Given the description of an element on the screen output the (x, y) to click on. 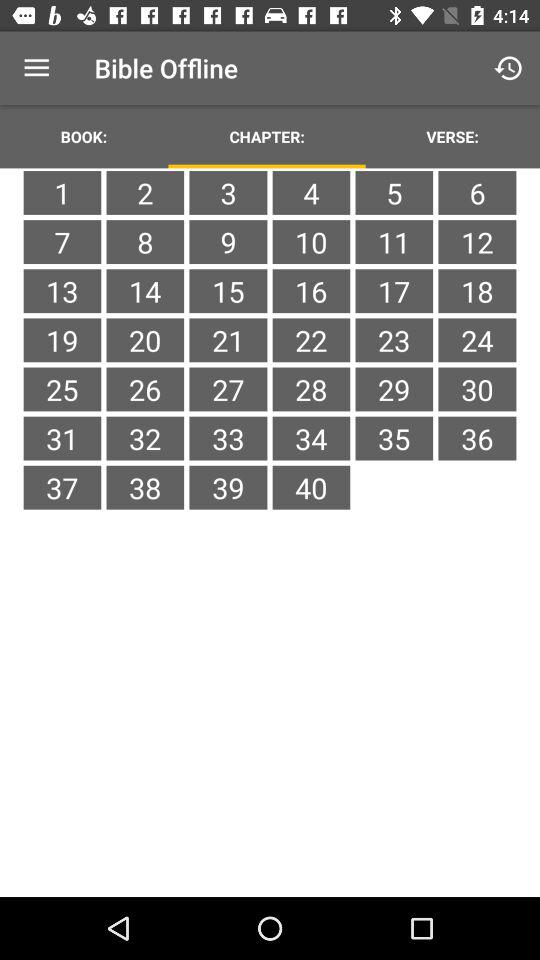
swipe until the 20 icon (145, 340)
